Given the description of an element on the screen output the (x, y) to click on. 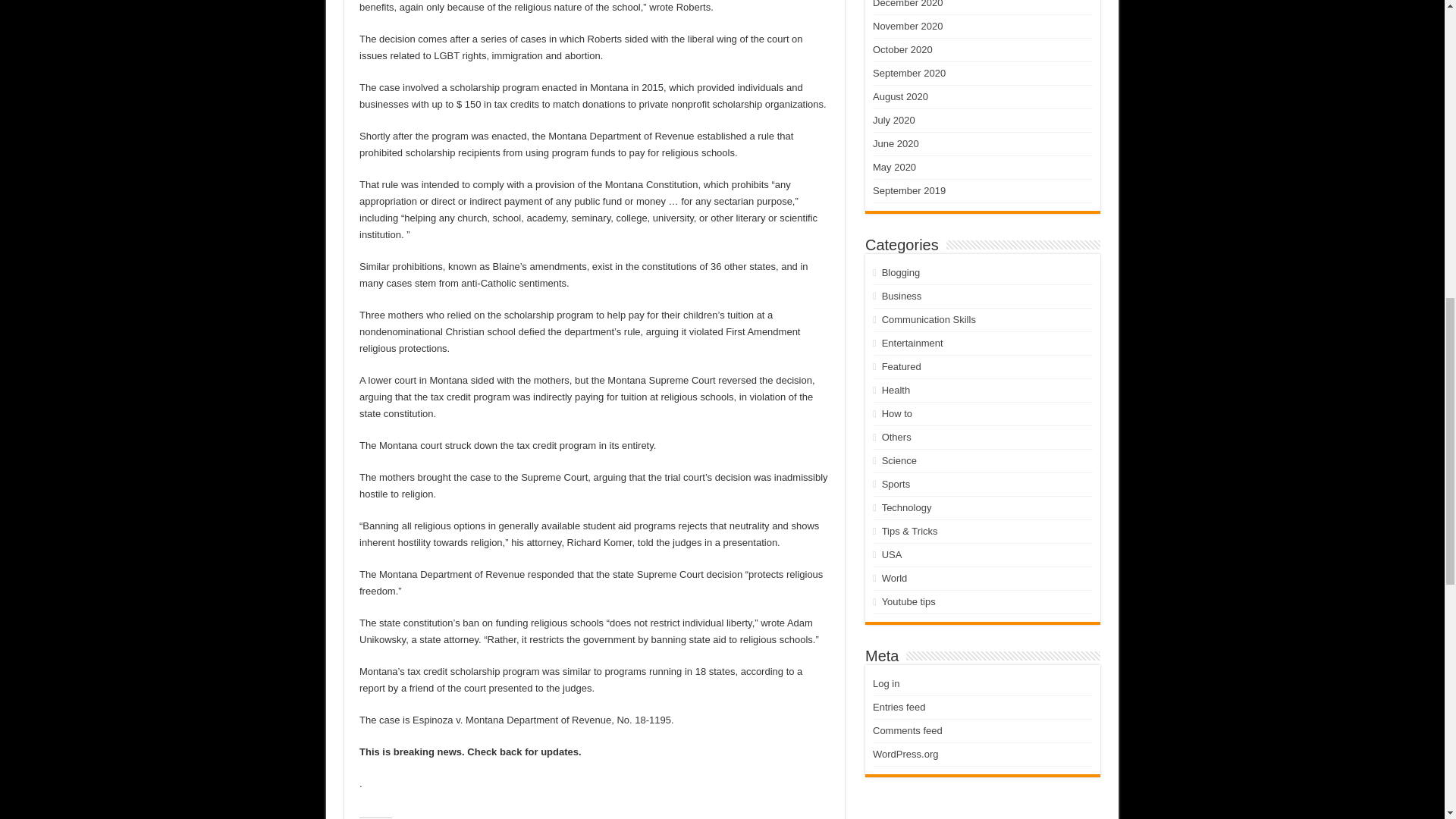
Scroll To Top (1421, 60)
